Given the description of an element on the screen output the (x, y) to click on. 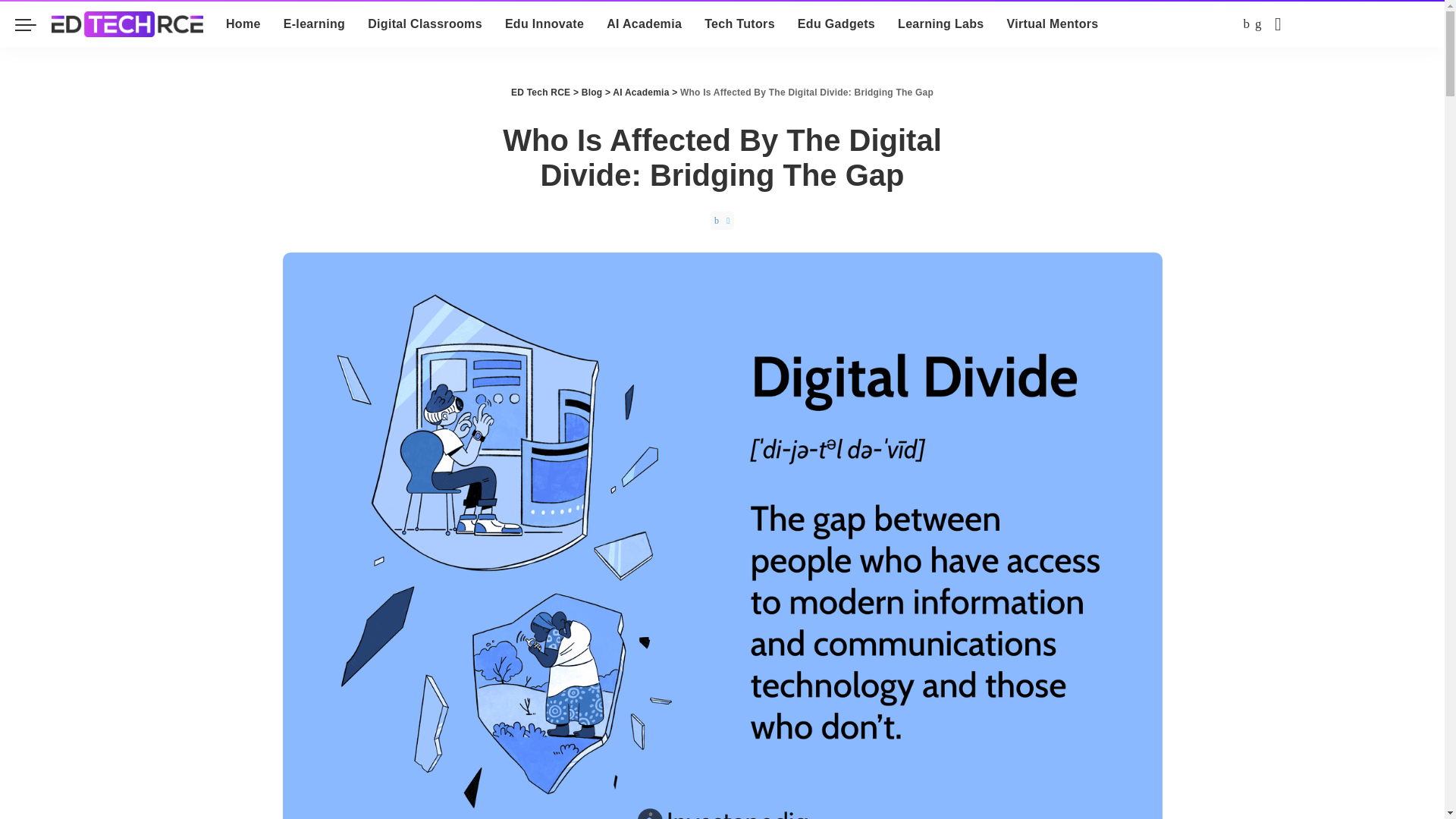
Go to ED Tech RCE. (540, 91)
Home (243, 23)
E-learning (314, 23)
ED Tech RCE (126, 23)
Go to the AI Academia Category archives. (640, 91)
Go to Blog. (591, 91)
Digital Classrooms (424, 23)
